Given the description of an element on the screen output the (x, y) to click on. 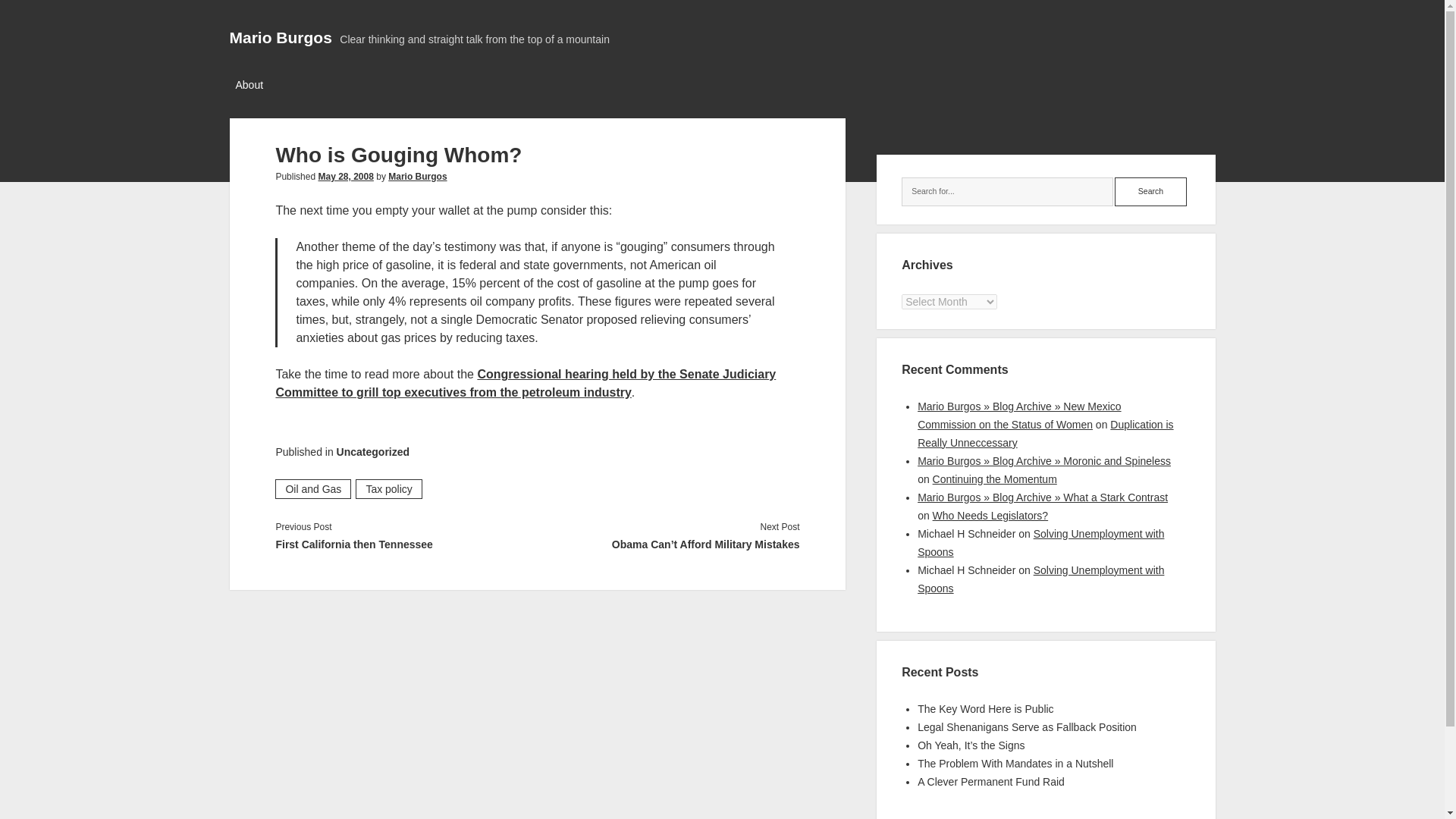
A Clever Permanent Fund Raid (990, 781)
Oil and Gas (312, 488)
Mario Burgos (417, 176)
Solving Unemployment with Spoons (1040, 579)
Mario Burgos (279, 36)
Continuing the Momentum (995, 479)
May 28, 2008 (344, 176)
The Problem With Mandates in a Nutshell (1015, 763)
The Key Word Here is Public (984, 708)
